Given the description of an element on the screen output the (x, y) to click on. 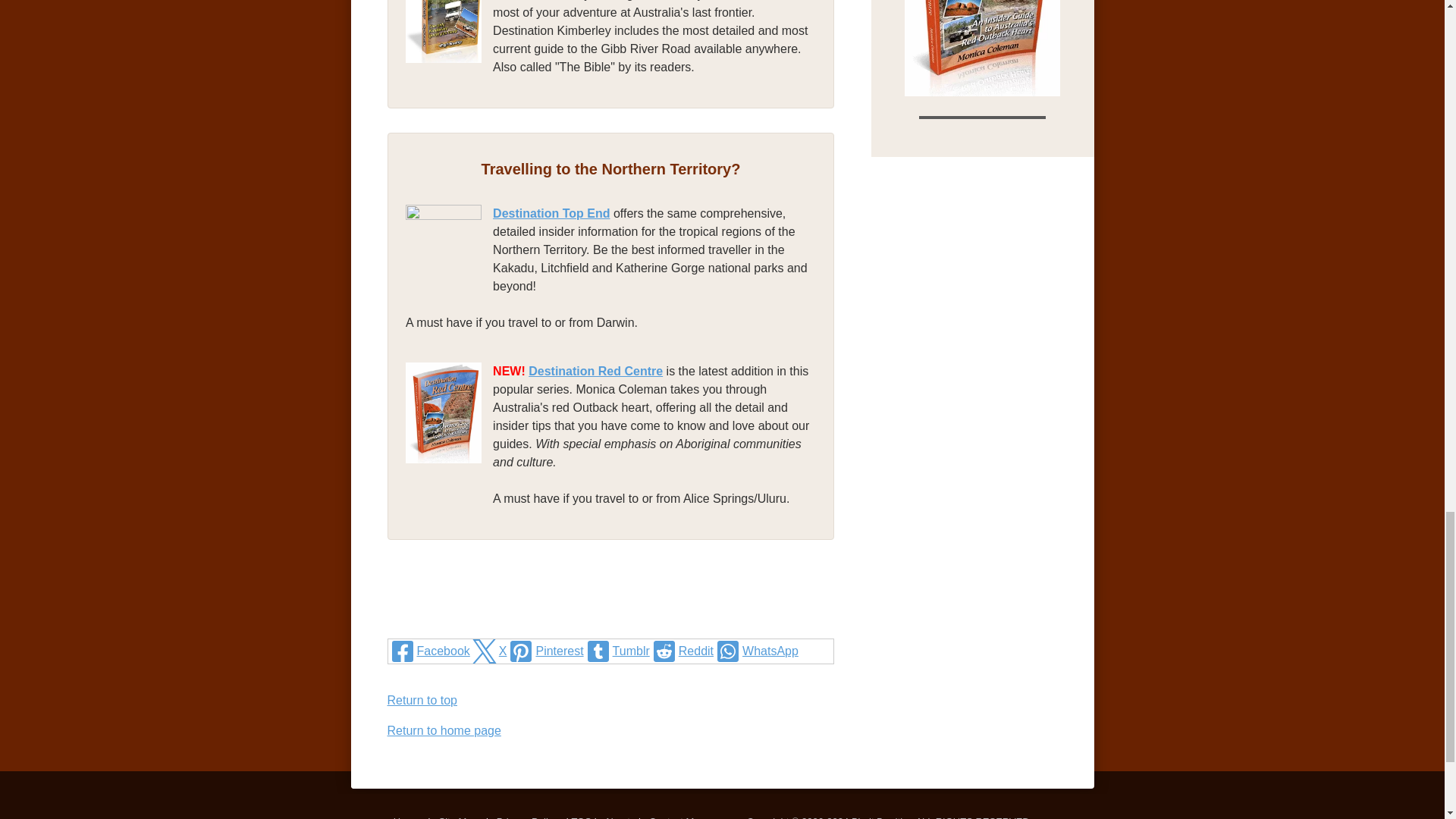
Go to NT Travel Guide: Destination Red Centre (982, 91)
Go to NT Travel Guide: Destination Red Centre (449, 481)
